Given the description of an element on the screen output the (x, y) to click on. 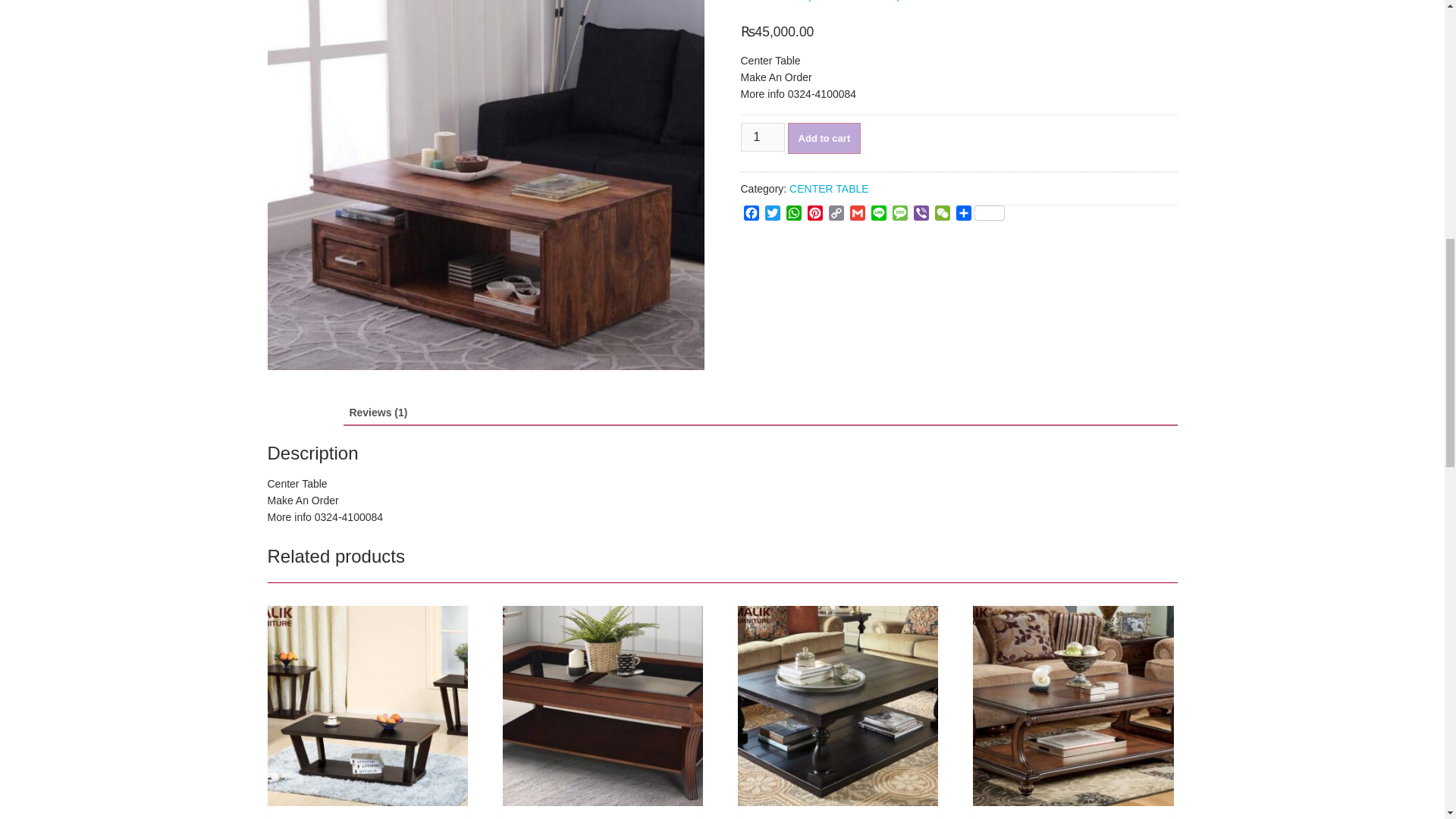
1 (761, 136)
WeChat (941, 214)
WhatsApp (793, 214)
Pinterest (814, 214)
Viber (920, 214)
Line (877, 214)
Facebook (750, 214)
Gmail (856, 214)
Twitter (772, 214)
Copy Link (835, 214)
Message (899, 214)
